Given the description of an element on the screen output the (x, y) to click on. 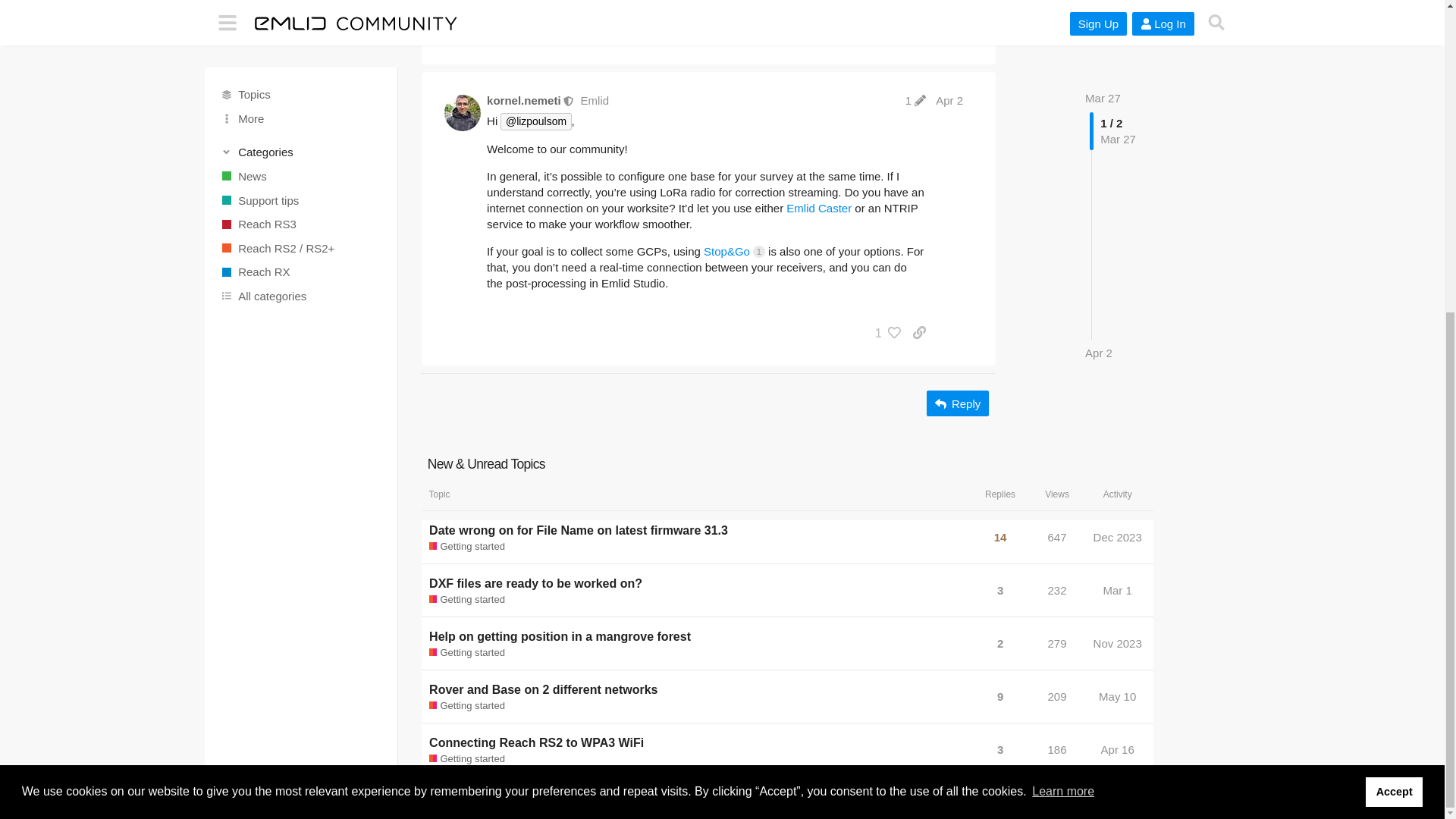
Apr 2 (1098, 37)
Accept (1393, 293)
Keyboard Shortcuts (378, 307)
Apr 2, 2024 3:31 pm (1098, 37)
Learn more (1062, 292)
